Given the description of an element on the screen output the (x, y) to click on. 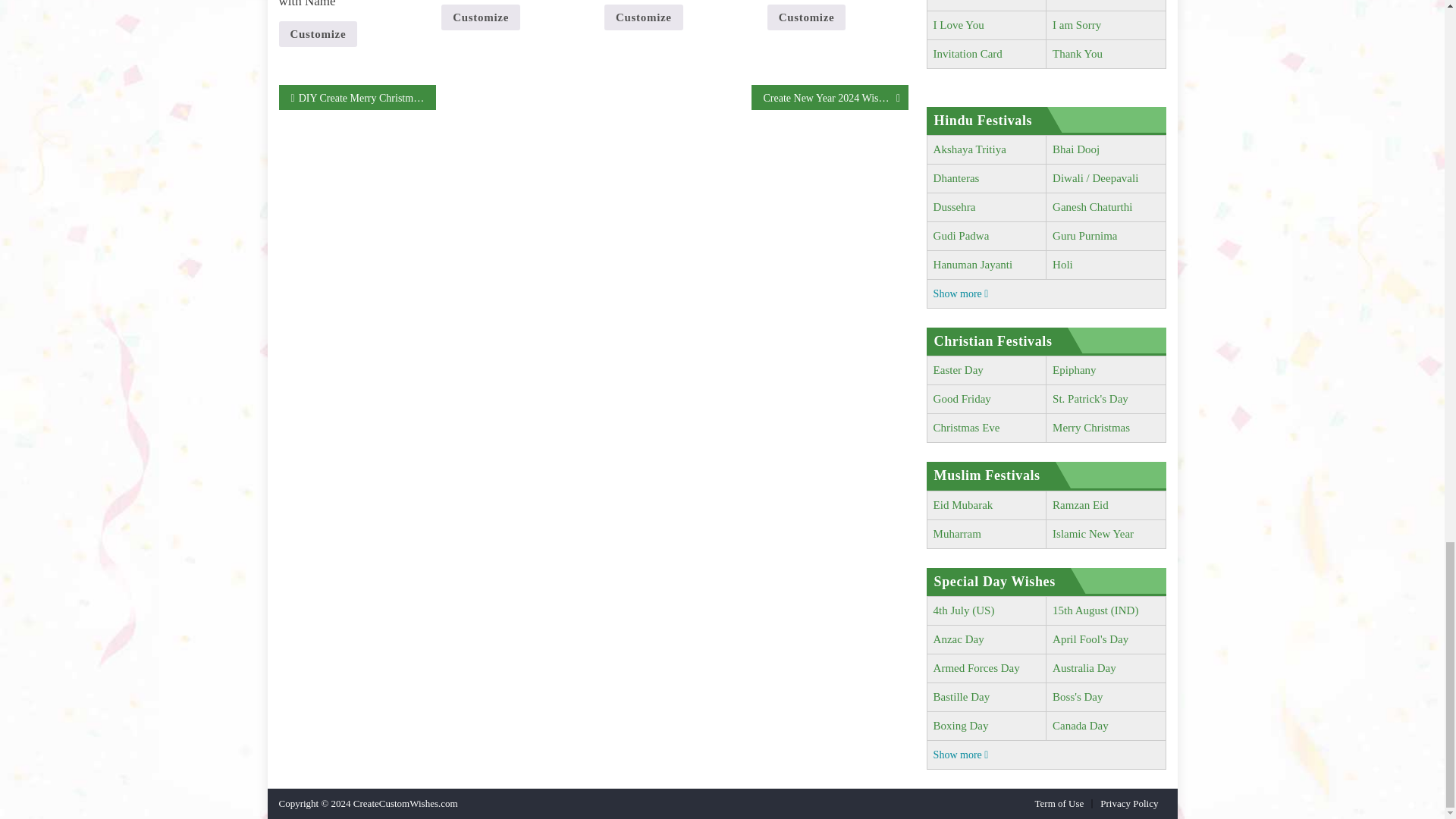
Dussehra (954, 206)
I Love You (958, 24)
Akshaya Tritiya (969, 149)
Happy Ganesh Chaturthi (1092, 206)
Dhanteras (956, 177)
Get Well Soon (966, 1)
I am Sorry (1076, 24)
Bhai Dooj (1075, 149)
Thank You (1077, 53)
Invitation Card (968, 53)
